Given the description of an element on the screen output the (x, y) to click on. 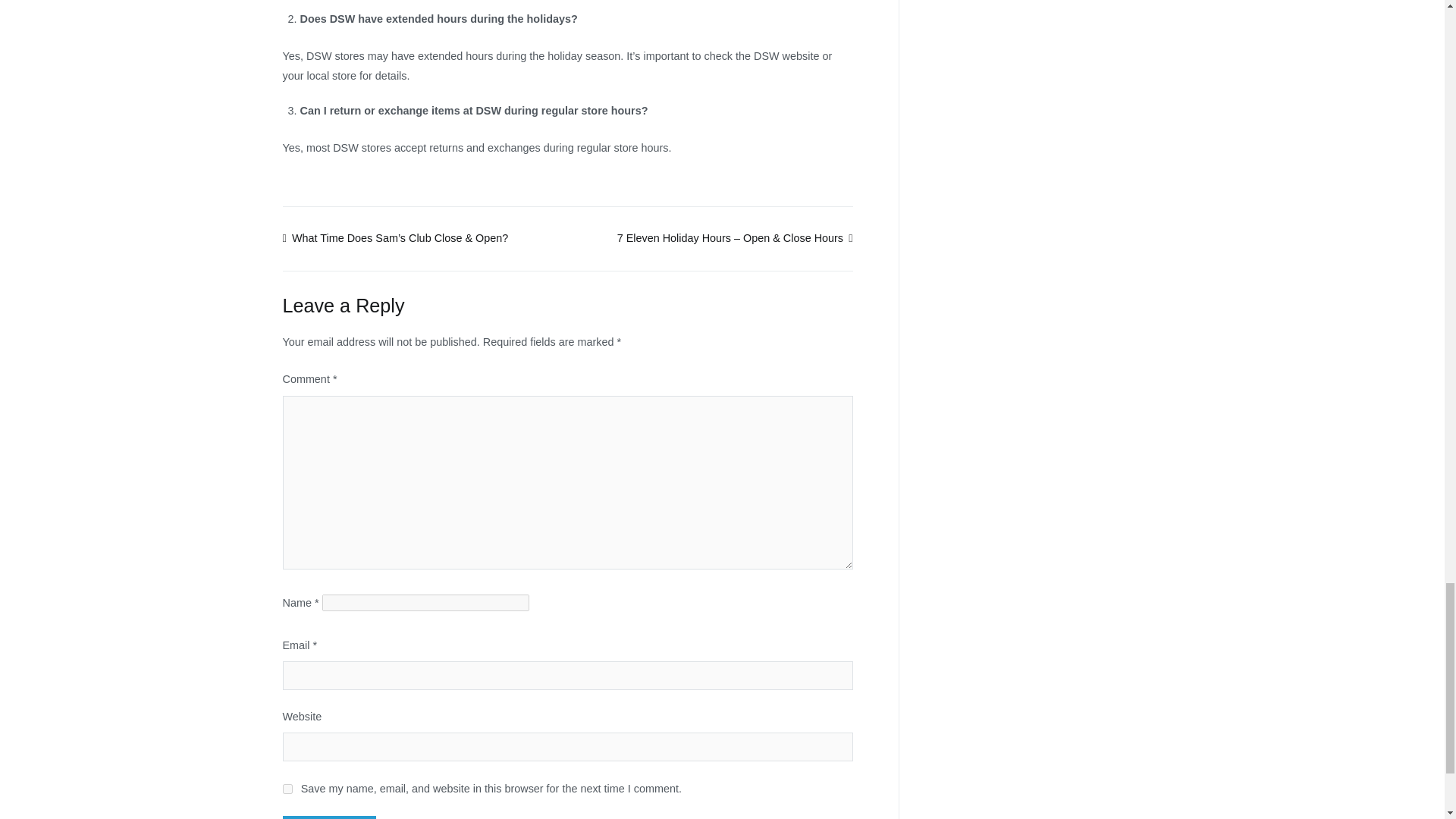
Post Comment (328, 817)
yes (287, 788)
